Given the description of an element on the screen output the (x, y) to click on. 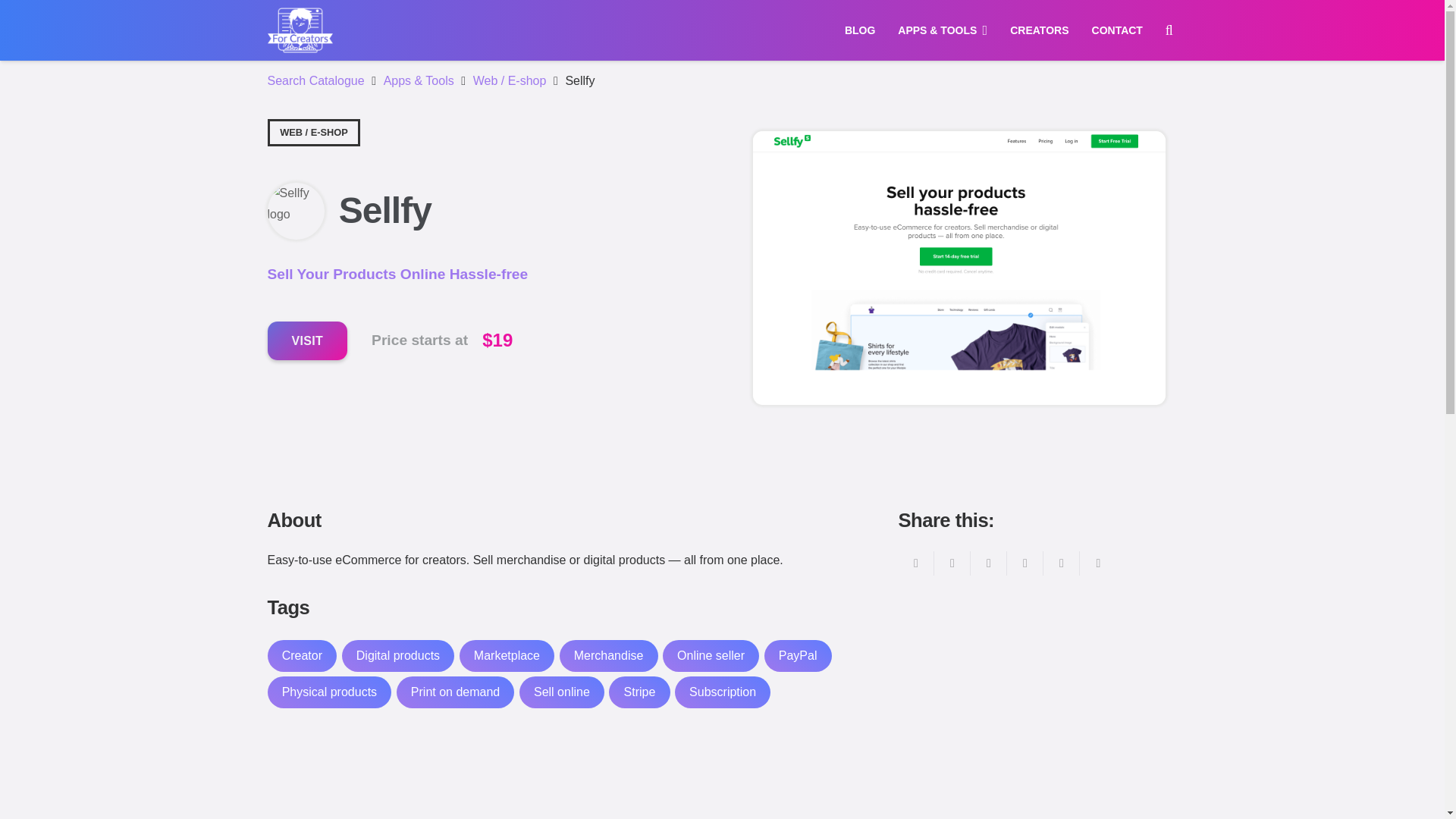
Merchandise (608, 655)
PayPal (797, 655)
Sell online (561, 692)
Search Catalogue (315, 80)
Digital products (398, 655)
CREATORS (1039, 30)
Share this (952, 563)
Sellfy screen (957, 280)
Tweet this (989, 563)
Sellfy 1 (294, 203)
